Given the description of an element on the screen output the (x, y) to click on. 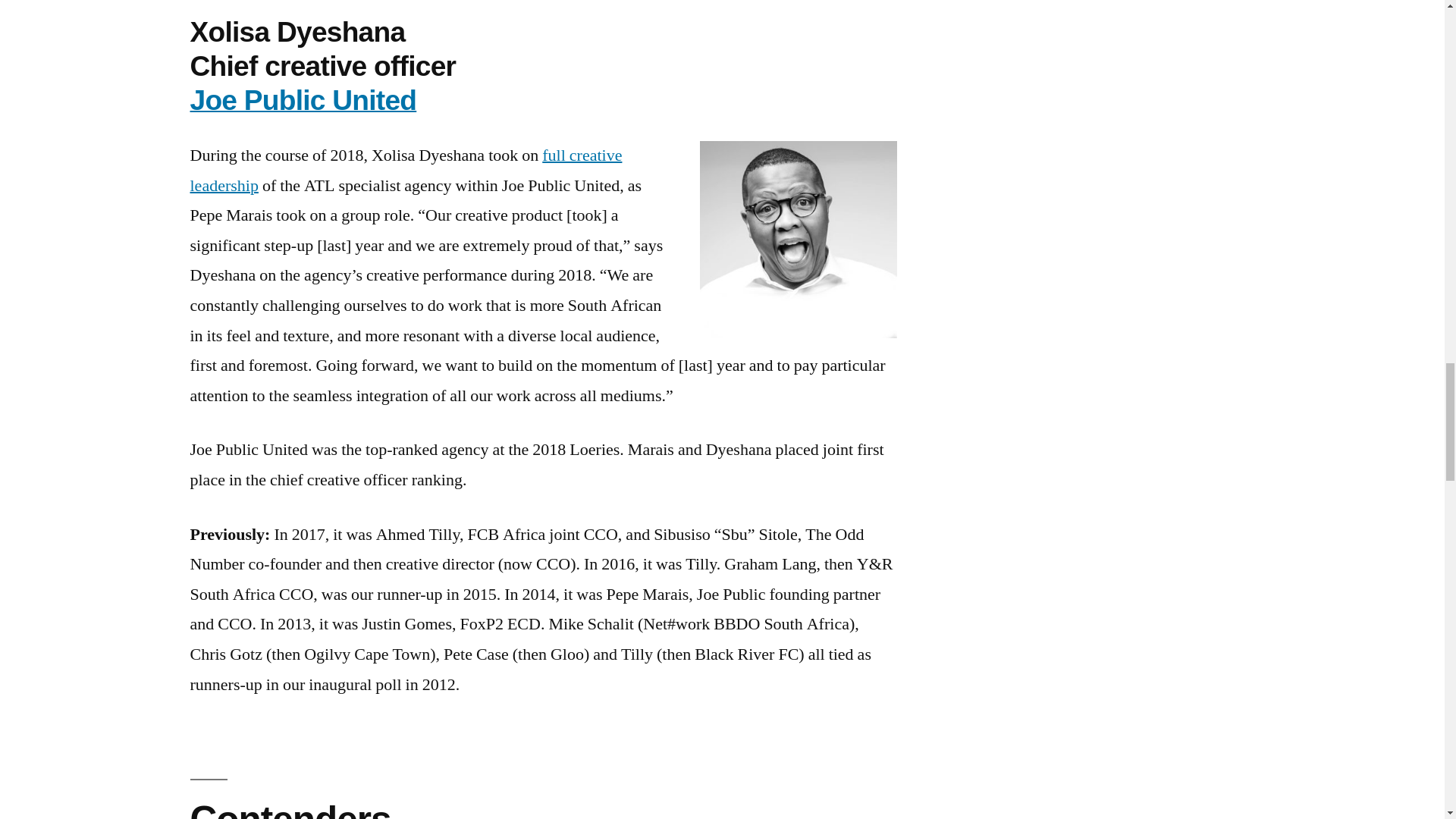
Xolisa Dyeshana (797, 239)
